Given the description of an element on the screen output the (x, y) to click on. 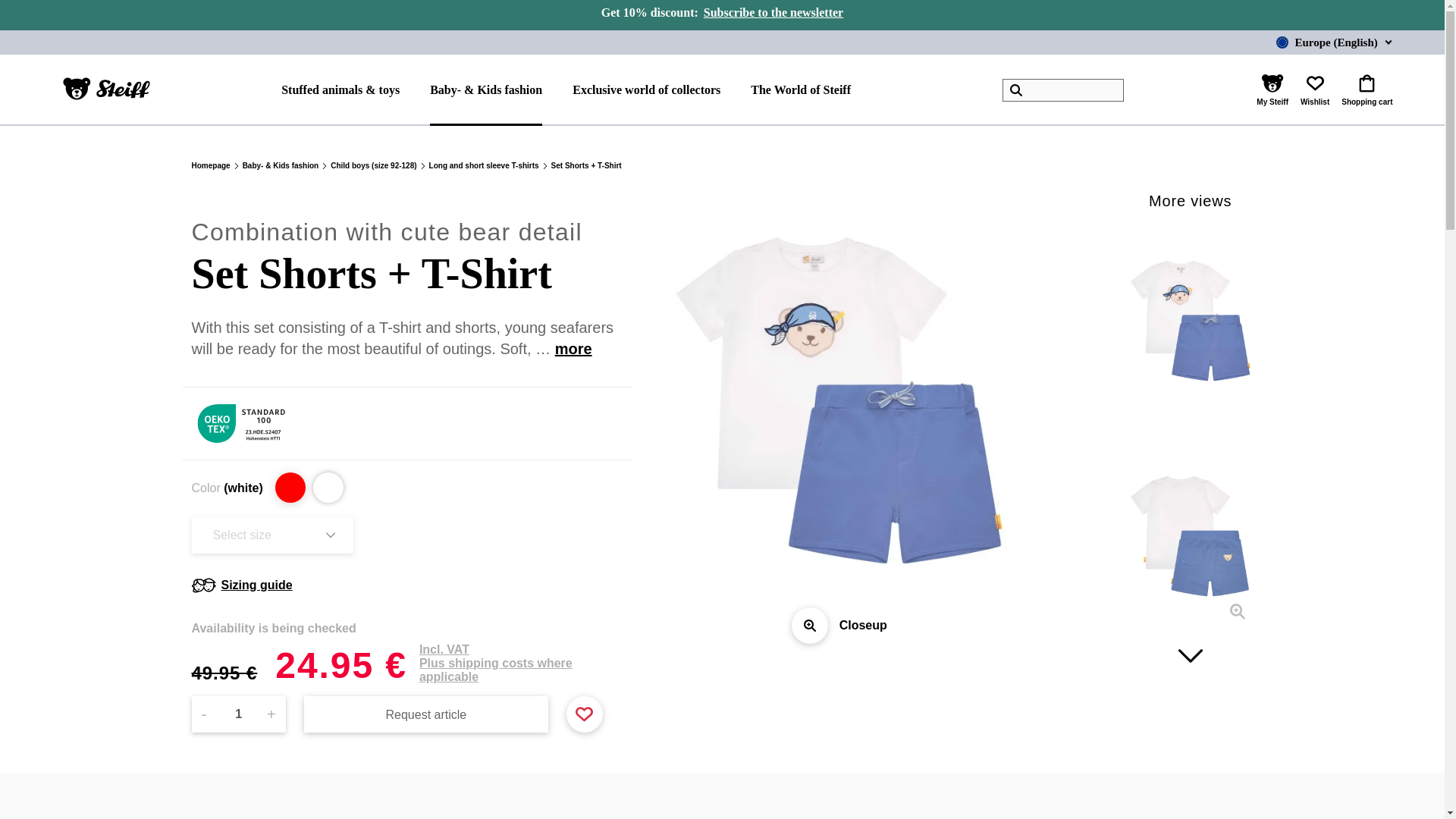
red (290, 487)
Subscribe to the newsletter (773, 14)
white (328, 487)
1 (237, 714)
Add to favorite (583, 713)
